Given the description of an element on the screen output the (x, y) to click on. 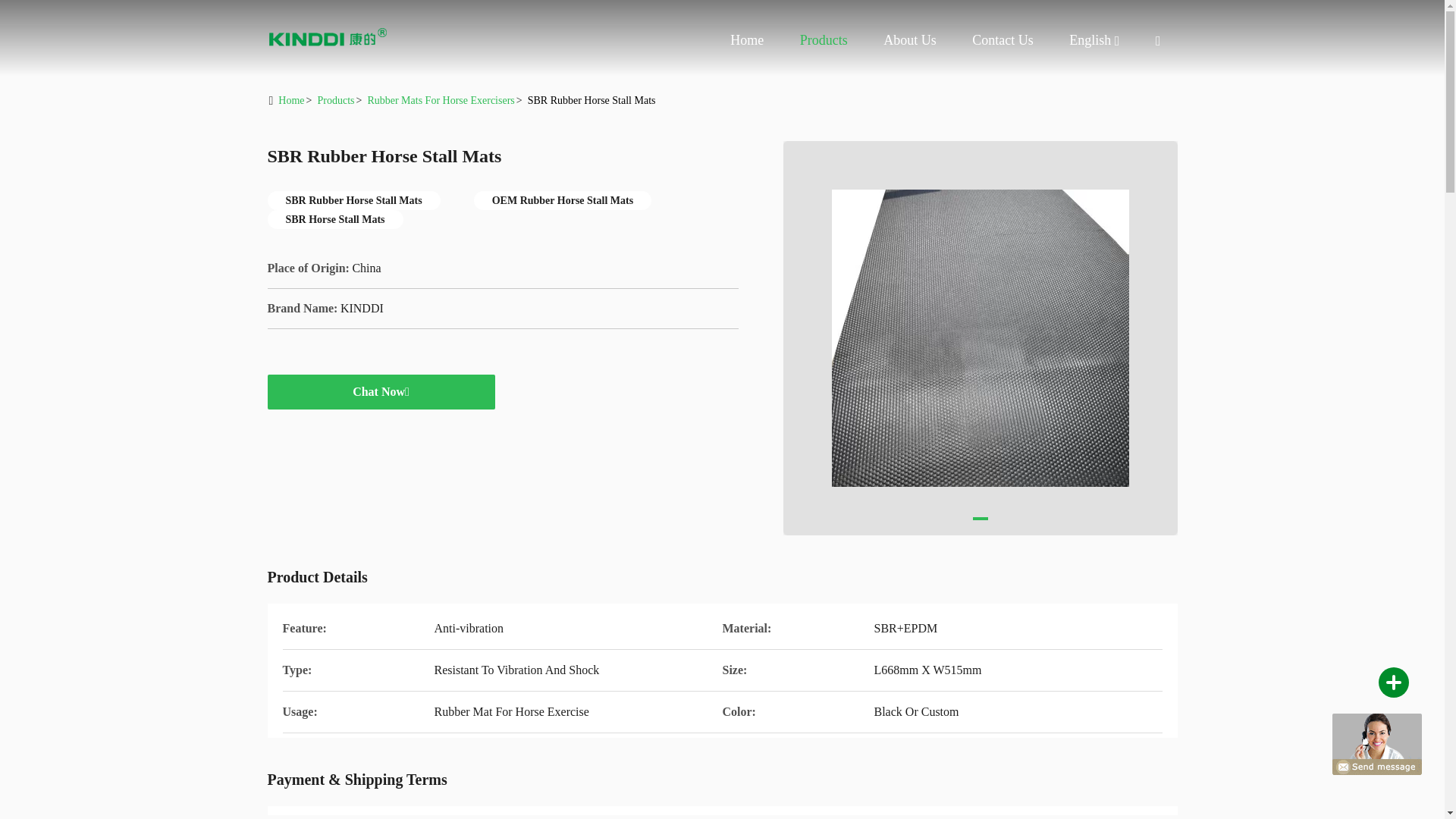
Home (327, 37)
Contact Us (1002, 40)
Home (291, 100)
Products (823, 40)
About Us (1089, 40)
Contact Us (1002, 40)
About Us (909, 40)
Products (823, 40)
About Us (909, 40)
